Given the description of an element on the screen output the (x, y) to click on. 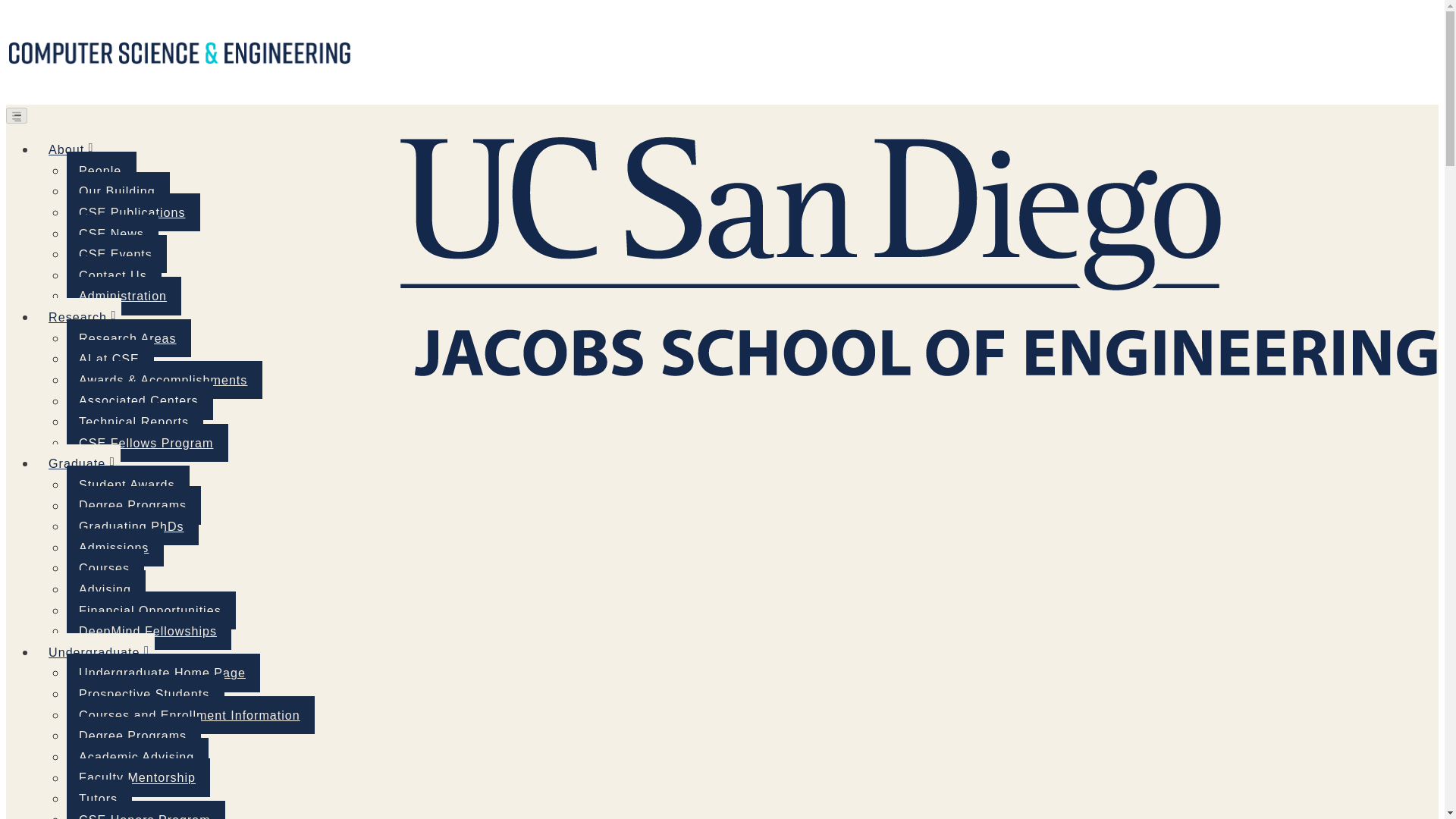
Courses (105, 567)
Skip to main content (722, 7)
CSE Events (116, 253)
Student Awards (127, 484)
Degree Programs (133, 505)
Our Building (118, 190)
Research (78, 316)
Graduate Courses (105, 567)
Administration (123, 295)
About CSE, CSE People and More! (67, 149)
Check out CSE Faculty and their research! (78, 316)
Graduating PhDs (132, 525)
Graduating PhDs (132, 525)
Advising (105, 589)
AI at CSE (110, 358)
